Given the description of an element on the screen output the (x, y) to click on. 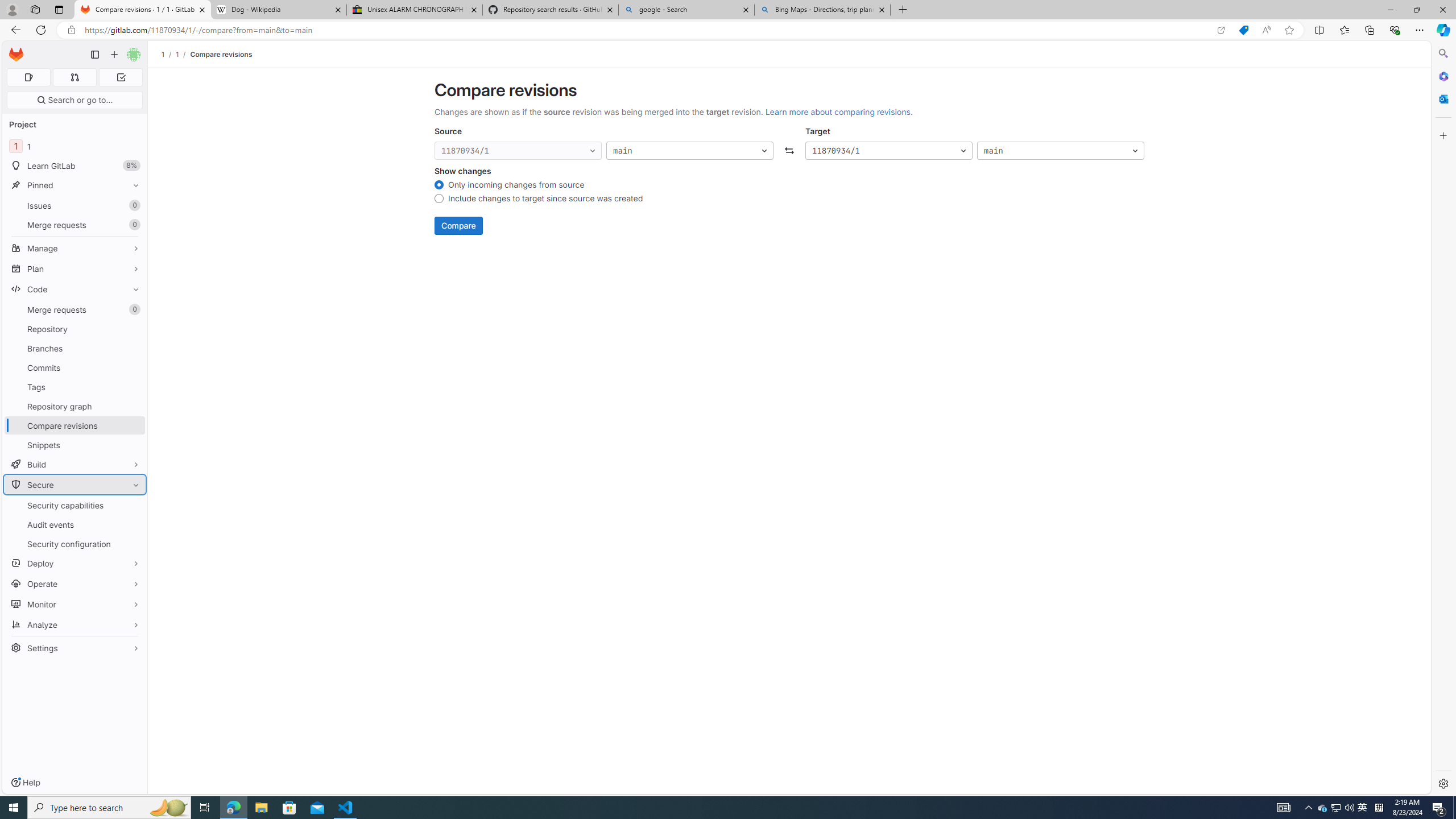
Commits (74, 367)
Operate (74, 583)
Security configuration (74, 543)
Tags (74, 386)
Secure (74, 484)
Include changes to target since source was created (438, 199)
1 1 (74, 145)
Pinned (74, 185)
Commits (74, 367)
